Given the description of an element on the screen output the (x, y) to click on. 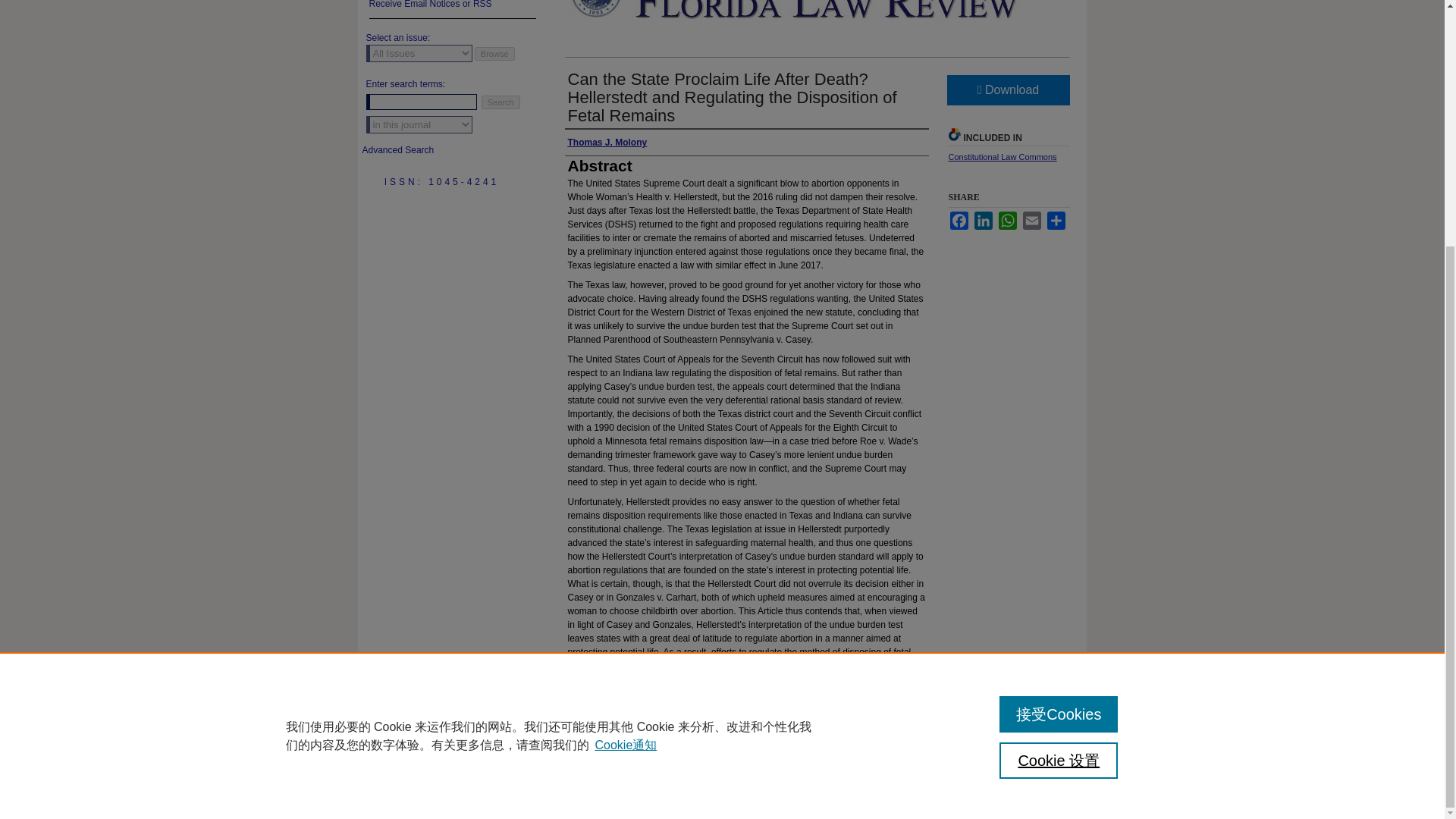
About (613, 782)
Home (569, 782)
Search (500, 101)
Browse (494, 53)
Receive notifications of new content (451, 9)
WhatsApp (1006, 220)
Advanced Search (397, 149)
Download (1007, 90)
Email (1031, 220)
Browse (494, 53)
LinkedIn (982, 220)
Search (500, 101)
Constitutional Law Commons (1002, 156)
Constitutional Law Commons (1002, 156)
Facebook (958, 220)
